Given the description of an element on the screen output the (x, y) to click on. 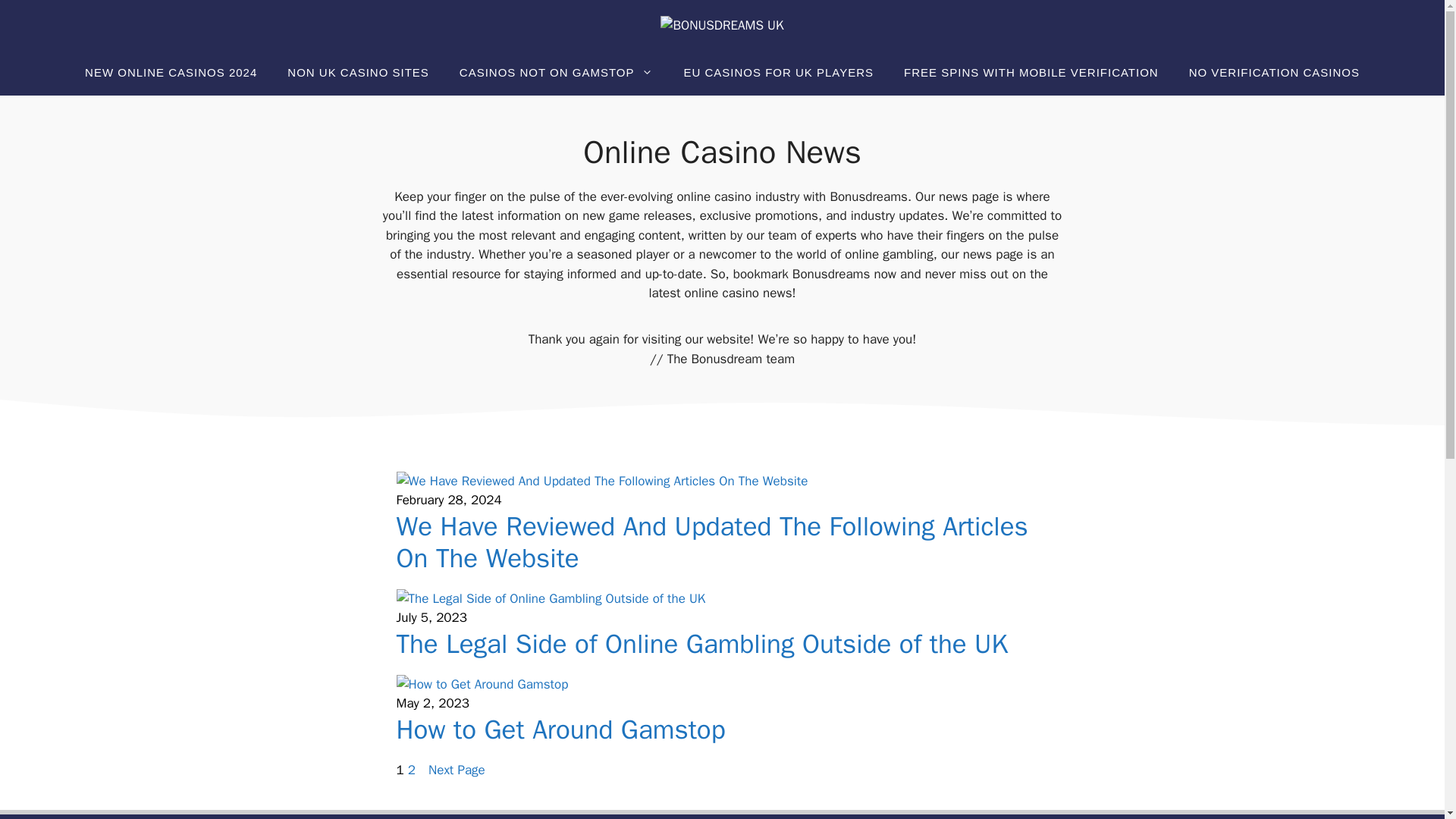
NON UK CASINO SITES (358, 72)
The Legal Side of Online Gambling Outside of the UK (701, 644)
How to Get Around Gamstop (560, 729)
NO VERIFICATION CASINOS (1273, 72)
NEW ONLINE CASINOS 2024 (170, 72)
FREE SPINS WITH MOBILE VERIFICATION (1030, 72)
EU CASINOS FOR UK PLAYERS (778, 72)
CASINOS NOT ON GAMSTOP (556, 72)
Next Page (456, 770)
